Given the description of an element on the screen output the (x, y) to click on. 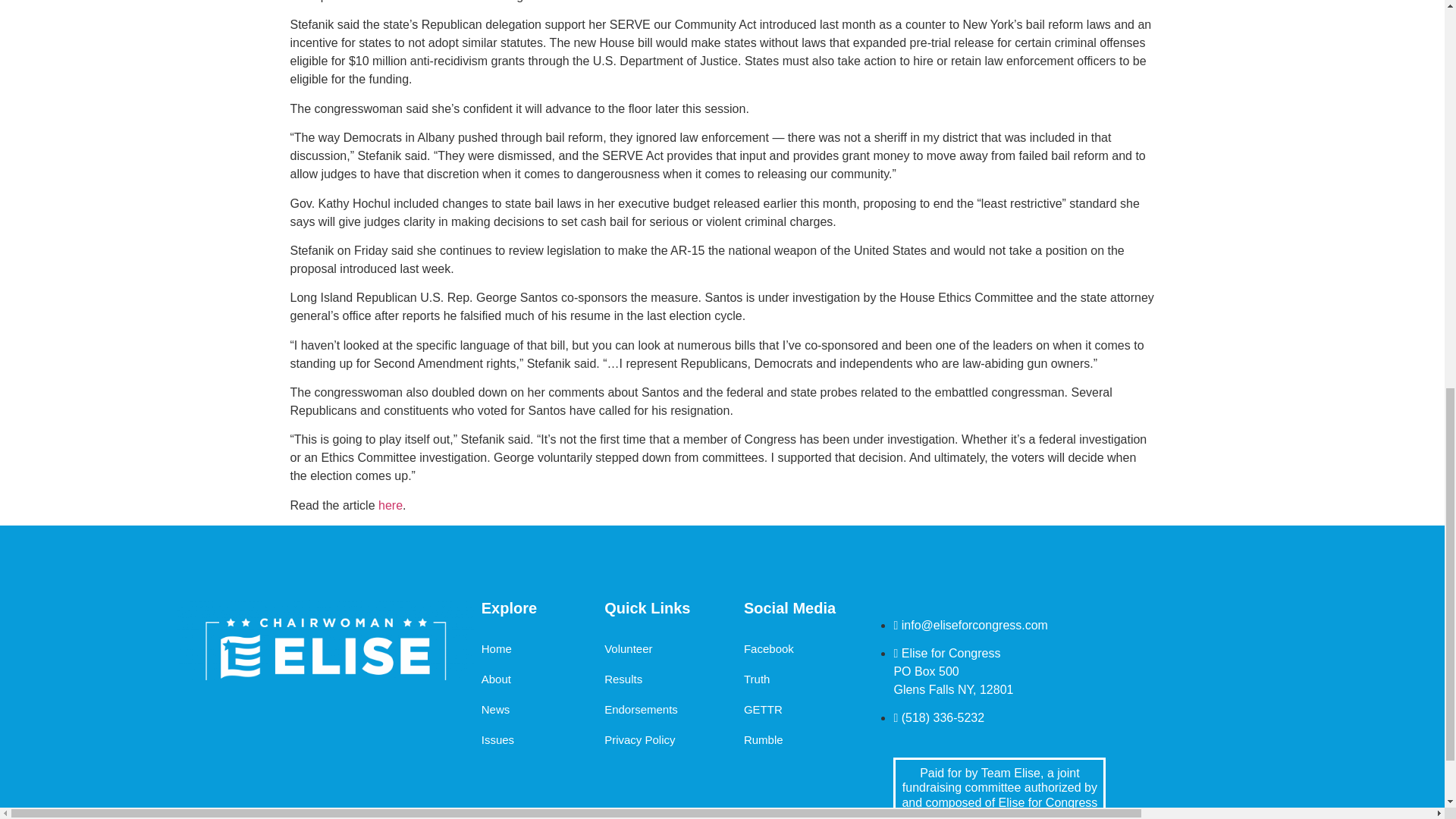
Privacy Policy (639, 739)
GETTR (763, 709)
About (496, 679)
Results (623, 679)
Facebook (768, 648)
News (496, 709)
Rumble (763, 739)
Issues (497, 739)
Endorsements (641, 709)
here (390, 504)
